Given the description of an element on the screen output the (x, y) to click on. 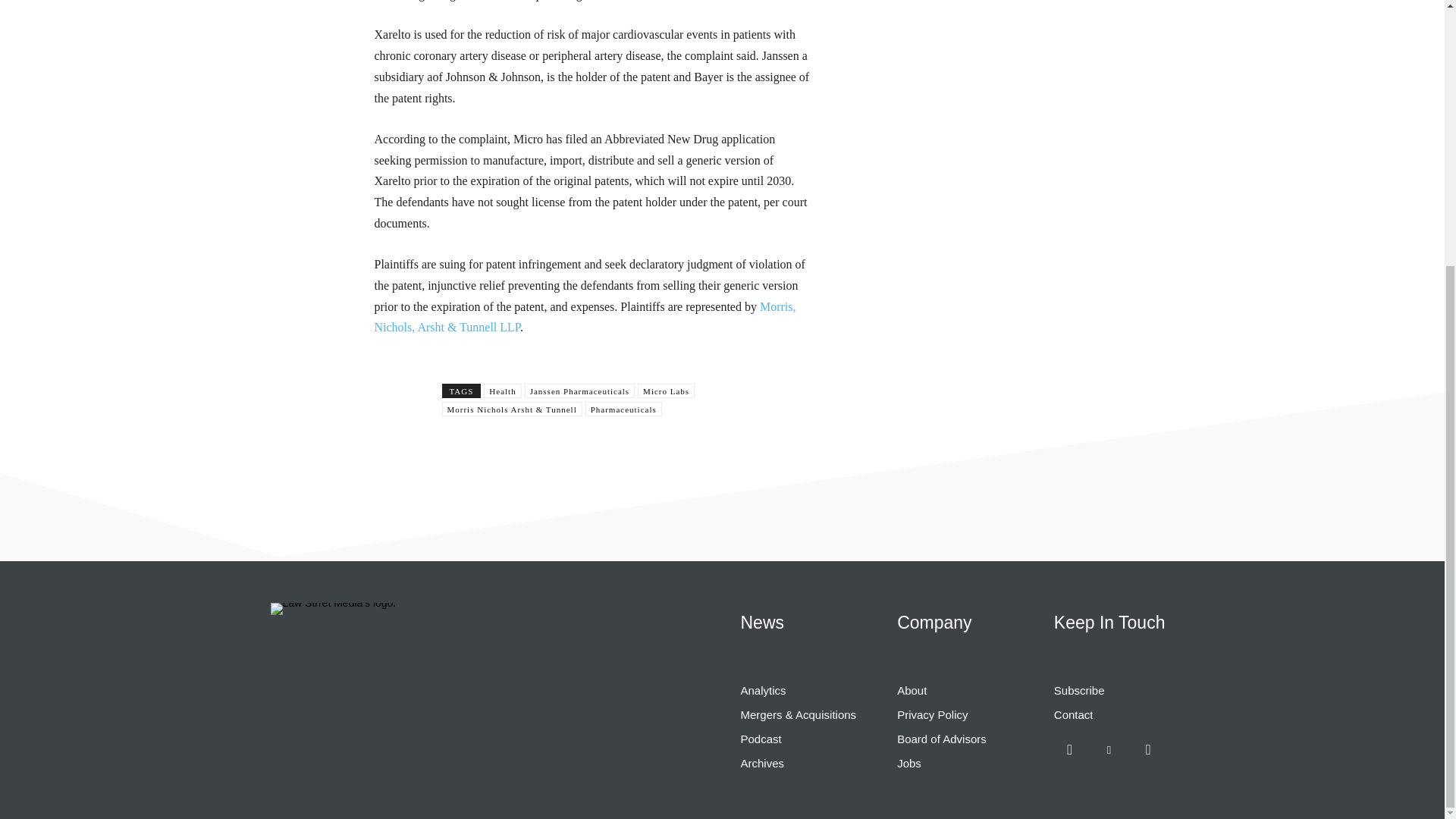
LawStreetMediaLogo (332, 608)
Facebook (1070, 749)
Health (502, 391)
Micro Labs (665, 391)
Janssen Pharmaceuticals (579, 391)
Linkedin (1109, 749)
